Given the description of an element on the screen output the (x, y) to click on. 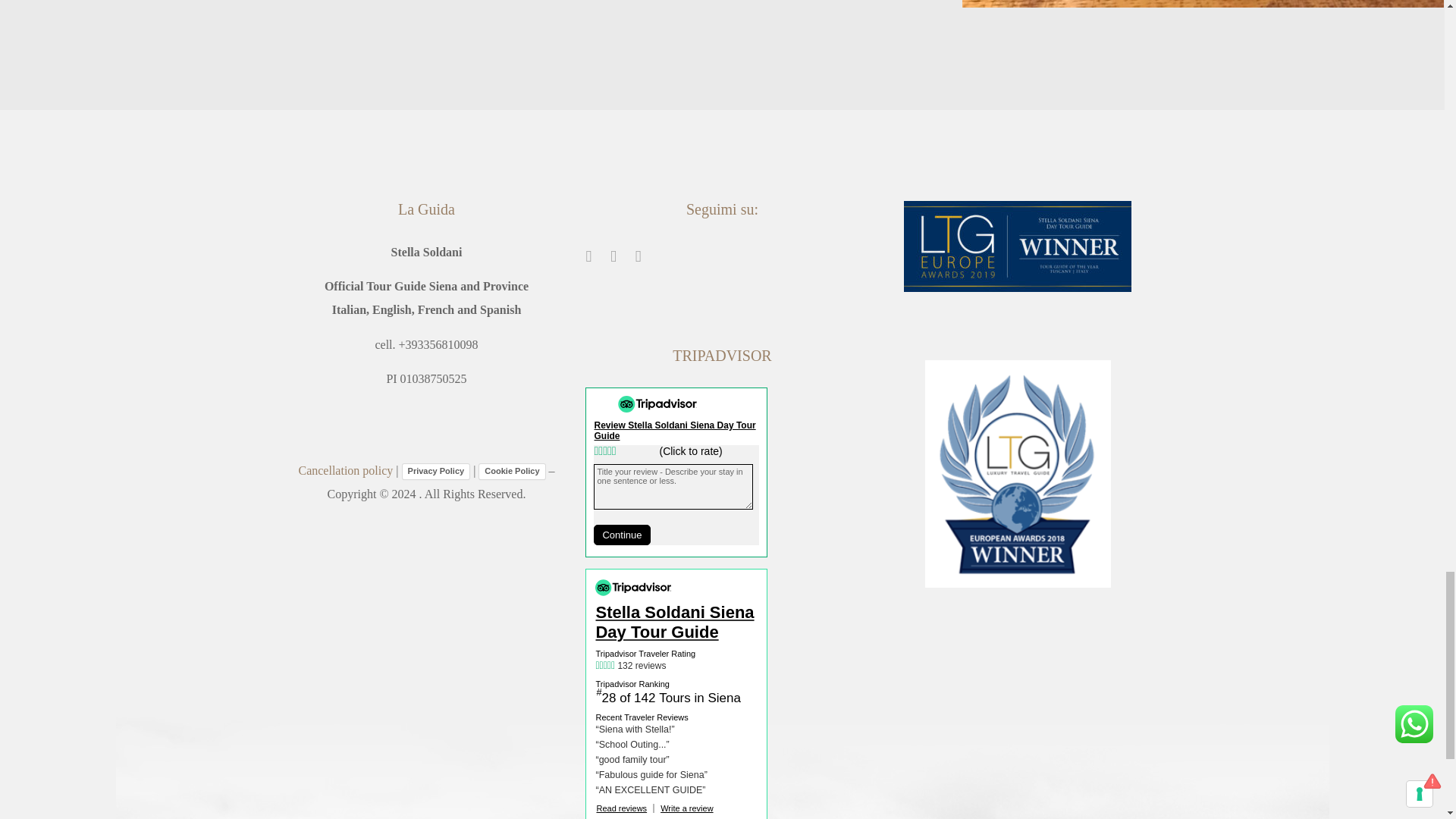
Continue (621, 534)
Privacy Policy (435, 471)
Cancellation policy (345, 470)
Review Stella Soldani Siena Day Tour Guide (674, 430)
Read reviews (620, 808)
Write a review (687, 808)
Cookie Policy (511, 471)
Continue (621, 534)
Stella Soldani Siena Day Tour Guide (676, 622)
